Given the description of an element on the screen output the (x, y) to click on. 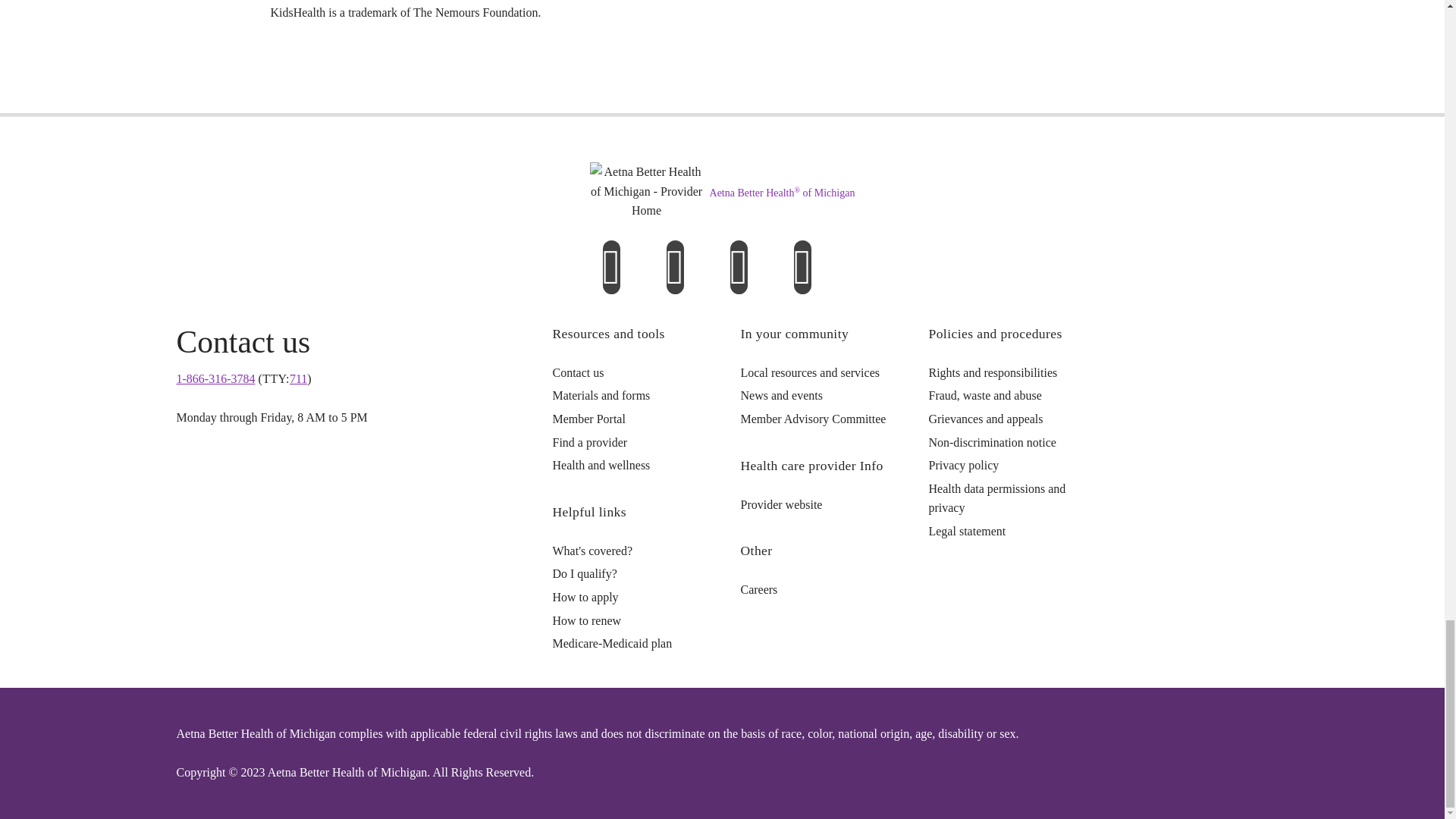
Instagram (737, 278)
LinkedIn (673, 278)
Facebook (611, 278)
YouTube (801, 278)
